Given the description of an element on the screen output the (x, y) to click on. 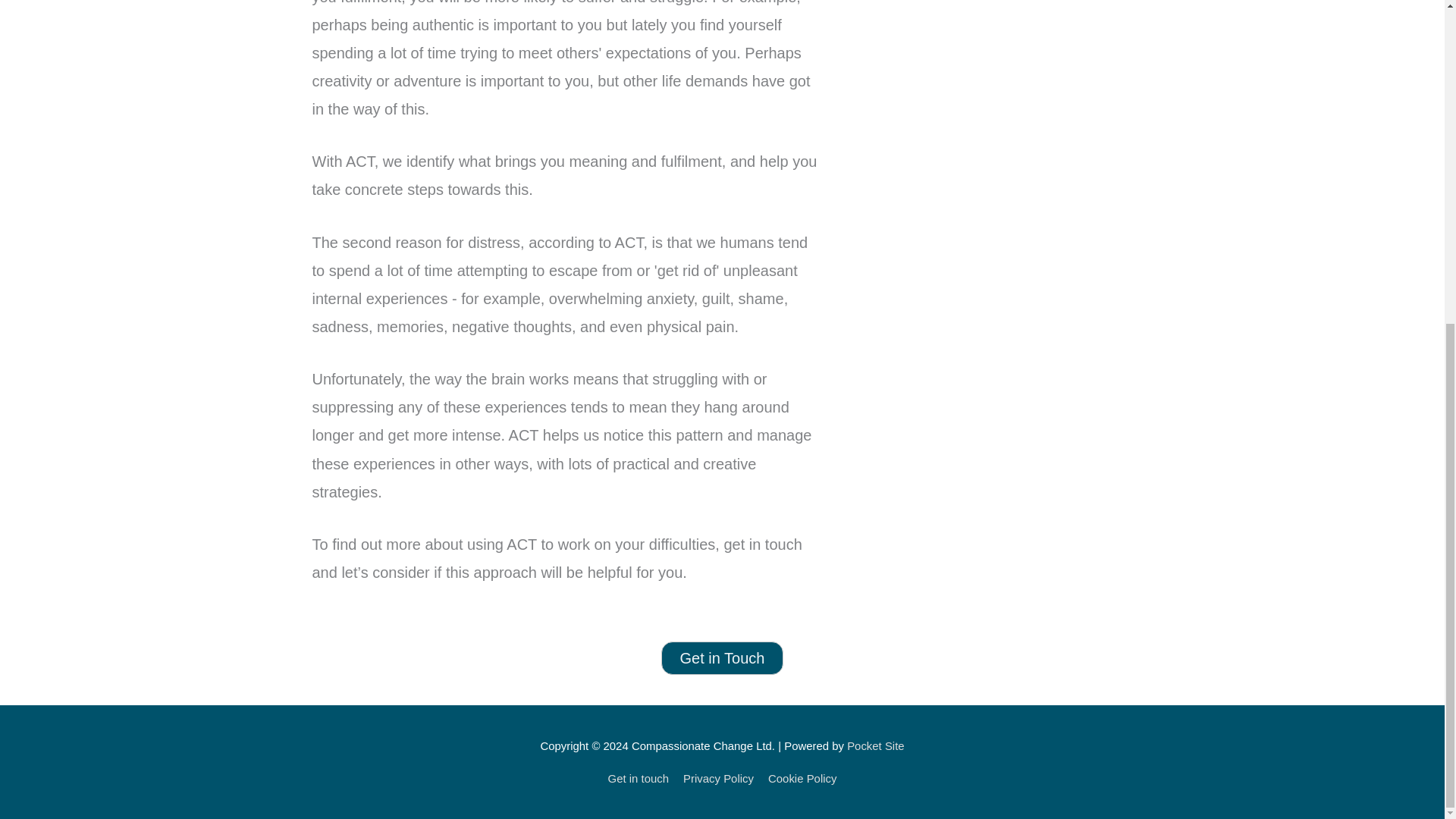
Pocket Site (875, 745)
Privacy Policy (719, 778)
Cookie Policy (799, 778)
Get in touch (641, 778)
Get in Touch (722, 657)
